Given the description of an element on the screen output the (x, y) to click on. 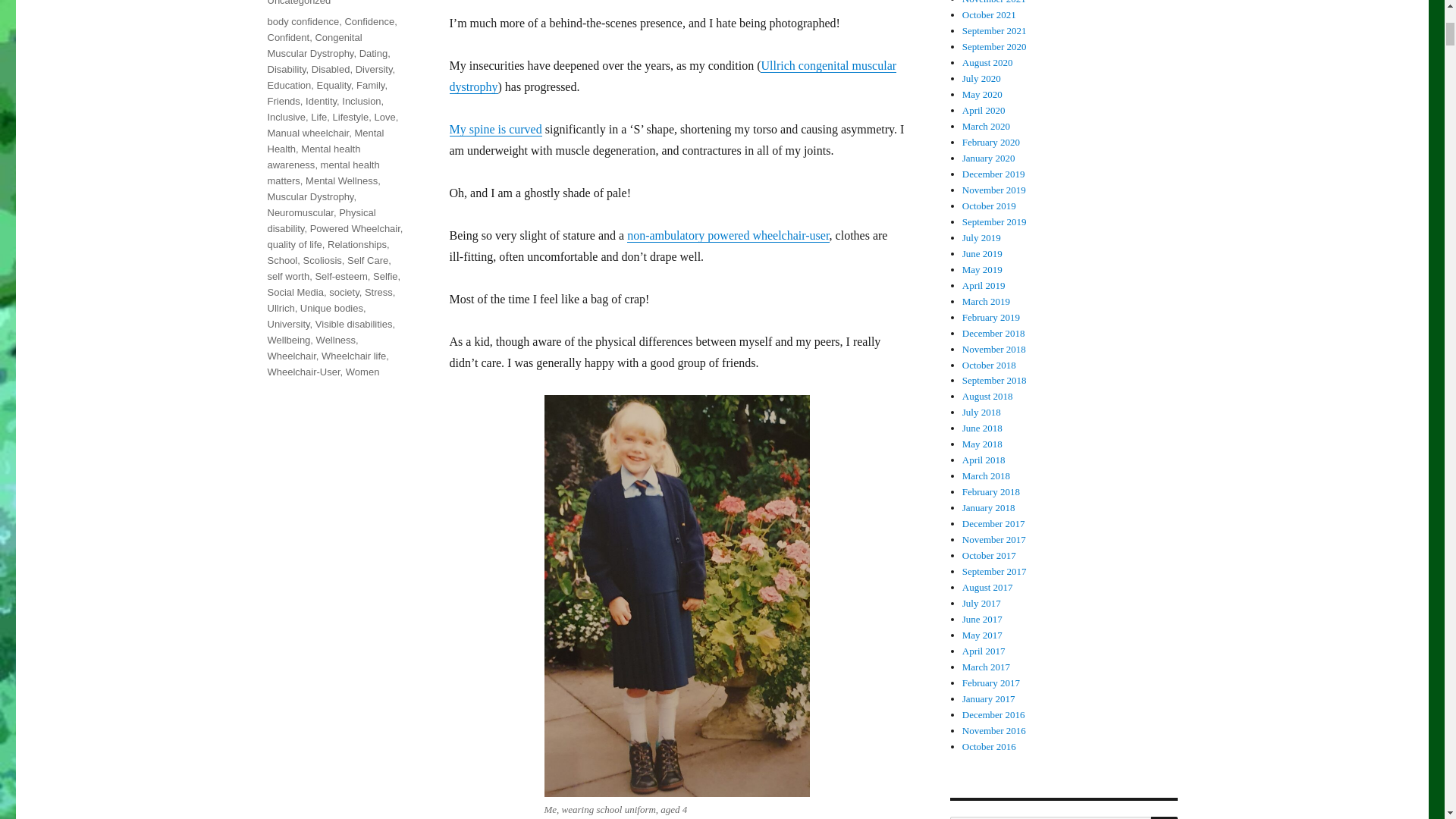
Inclusive (285, 116)
non-ambulatory powered wheelchair-user (727, 235)
Confident (287, 37)
body confidence (302, 21)
Ullrich congenital muscular dystrophy (672, 75)
Confidence (368, 21)
Friends (282, 101)
Love (384, 116)
Dating (373, 52)
Congenital Muscular Dystrophy (313, 44)
